Given the description of an element on the screen output the (x, y) to click on. 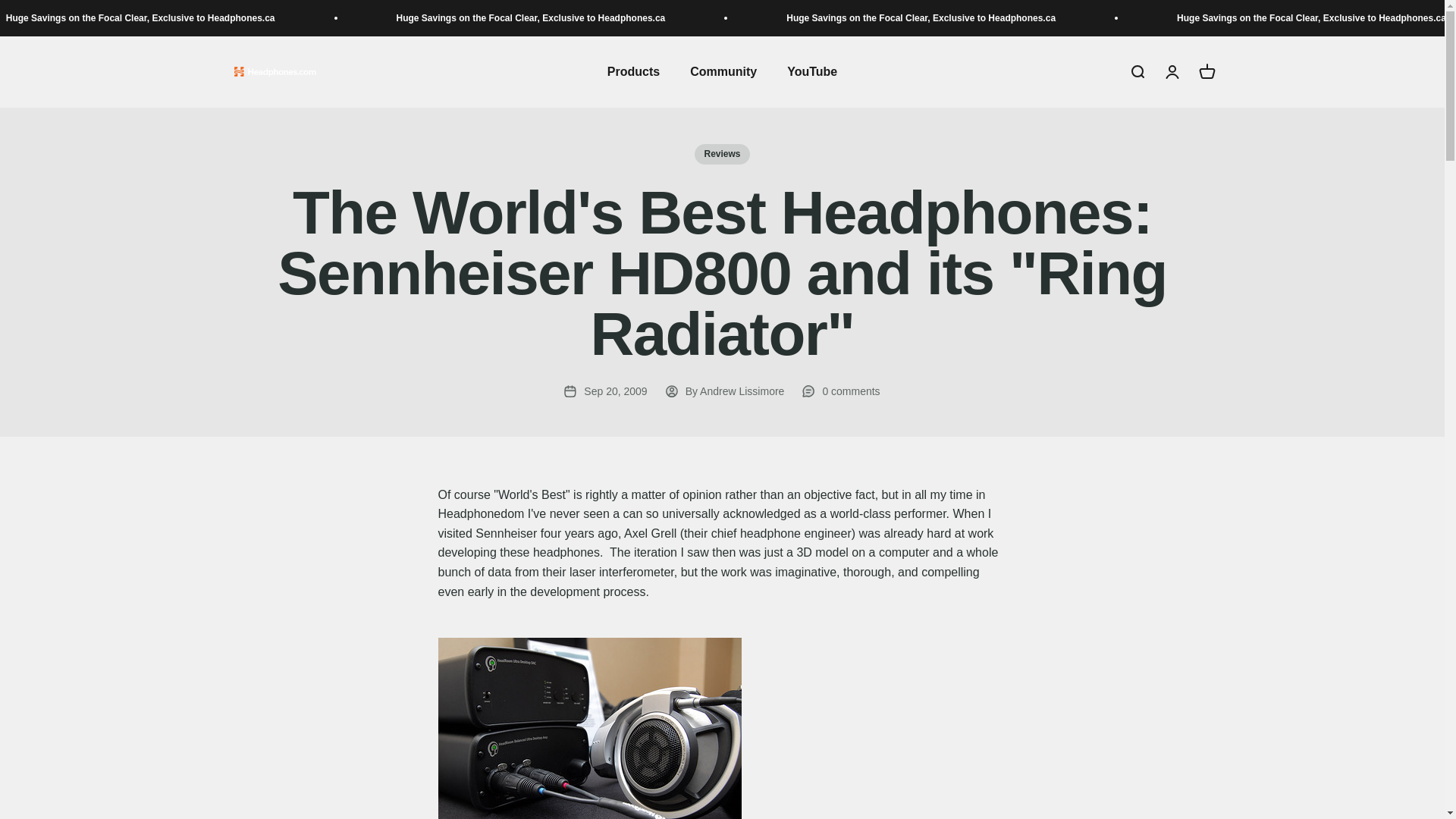
Huge Savings on the Focal Clear, Exclusive to Headphones.ca (100, 18)
Open search (1206, 71)
Reviews (1136, 71)
Products (721, 154)
Huge Savings on the Focal Clear, Exclusive to Headphones.ca (633, 71)
Huge Savings on the Focal Clear, Exclusive to Headphones.ca (843, 18)
Huge Savings on the Focal Clear, Exclusive to Headphones.ca (1232, 18)
headphones.ca (454, 18)
YouTube (274, 72)
0 comments (812, 71)
Open account page (840, 391)
Community (1171, 71)
